Given the description of an element on the screen output the (x, y) to click on. 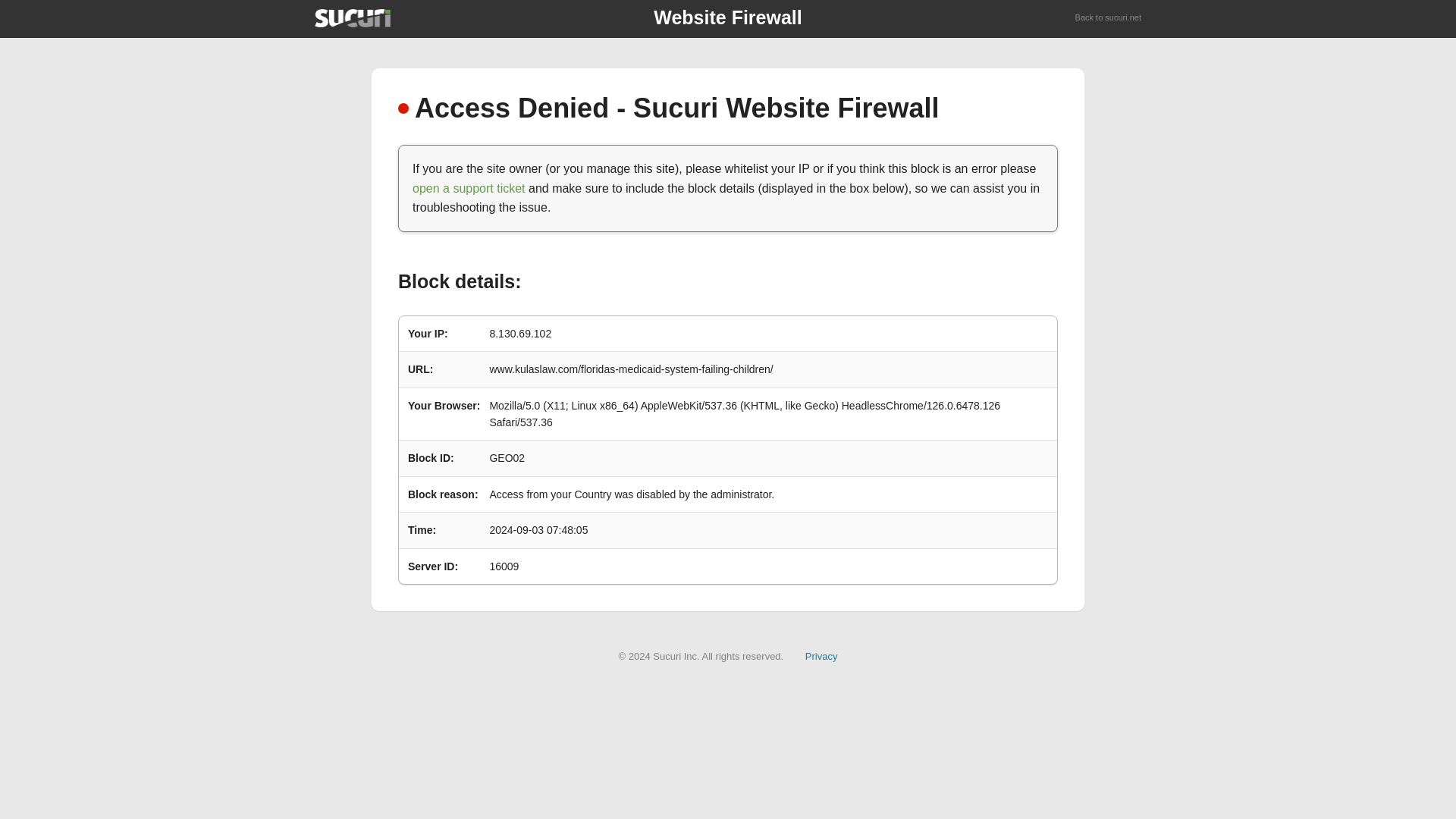
open a support ticket (468, 187)
Back to sucuri.net (1108, 18)
Privacy (821, 655)
